Given the description of an element on the screen output the (x, y) to click on. 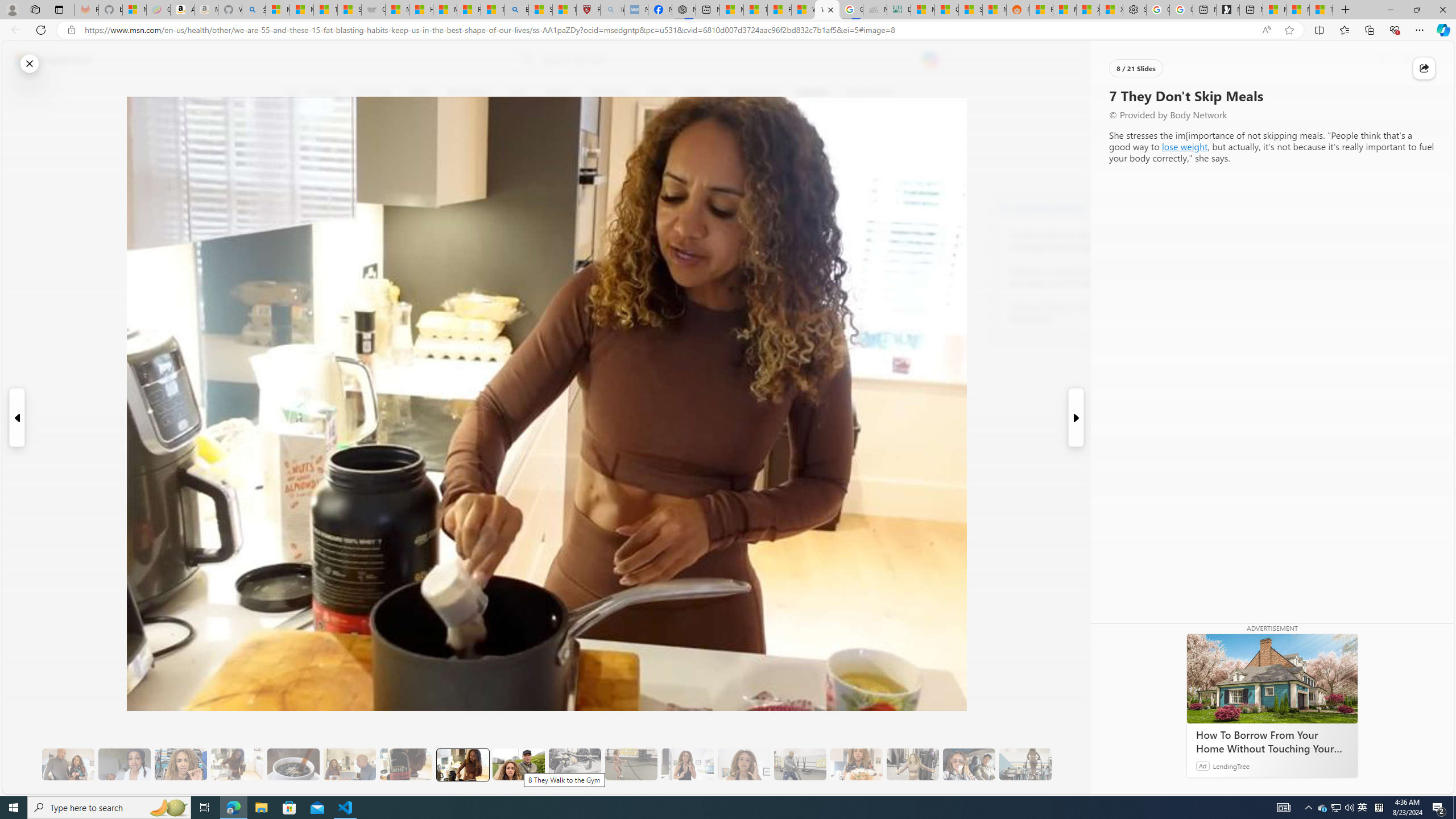
Previous Slide (16, 417)
6 Since Eating More Protein Her Training Has Improved (406, 764)
7 They Don't Skip Meals (462, 764)
3 They Drink Lemon Tea (237, 764)
Share this story (1423, 67)
7 They Don't Skip Meals (462, 764)
8 Be Mindful of Coffee (293, 764)
Open Copilot (930, 59)
News (419, 92)
Nordace - Nordace Siena Is Not An Ordinary Backpack (683, 9)
Dislike (299, 170)
Politics (697, 92)
